Given the description of an element on the screen output the (x, y) to click on. 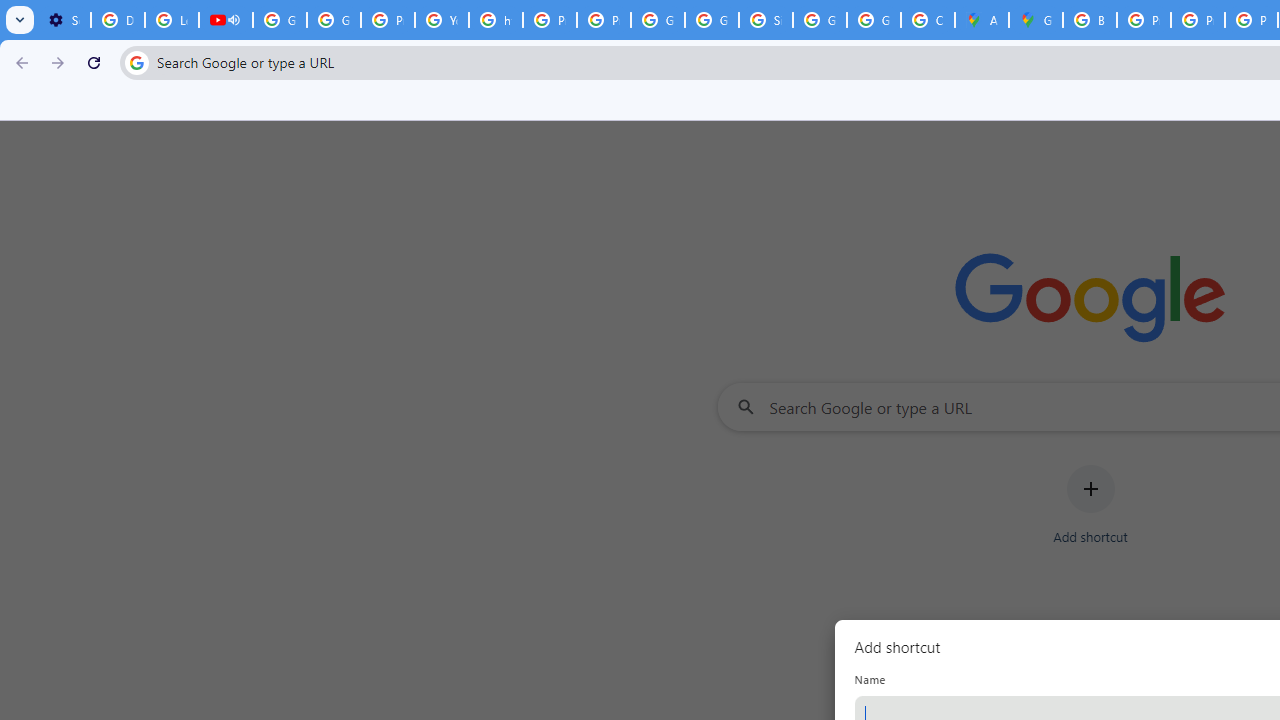
https://scholar.google.com/ (495, 20)
Google Maps (1035, 20)
Learn how to find your photos - Google Photos Help (171, 20)
Privacy Help Center - Policies Help (550, 20)
Google Account Help (280, 20)
Blogger Policies and Guidelines - Transparency Center (1089, 20)
Privacy Help Center - Policies Help (1197, 20)
Create your Google Account (927, 20)
Privacy Help Center - Policies Help (387, 20)
Privacy Help Center - Policies Help (1144, 20)
